Given the description of an element on the screen output the (x, y) to click on. 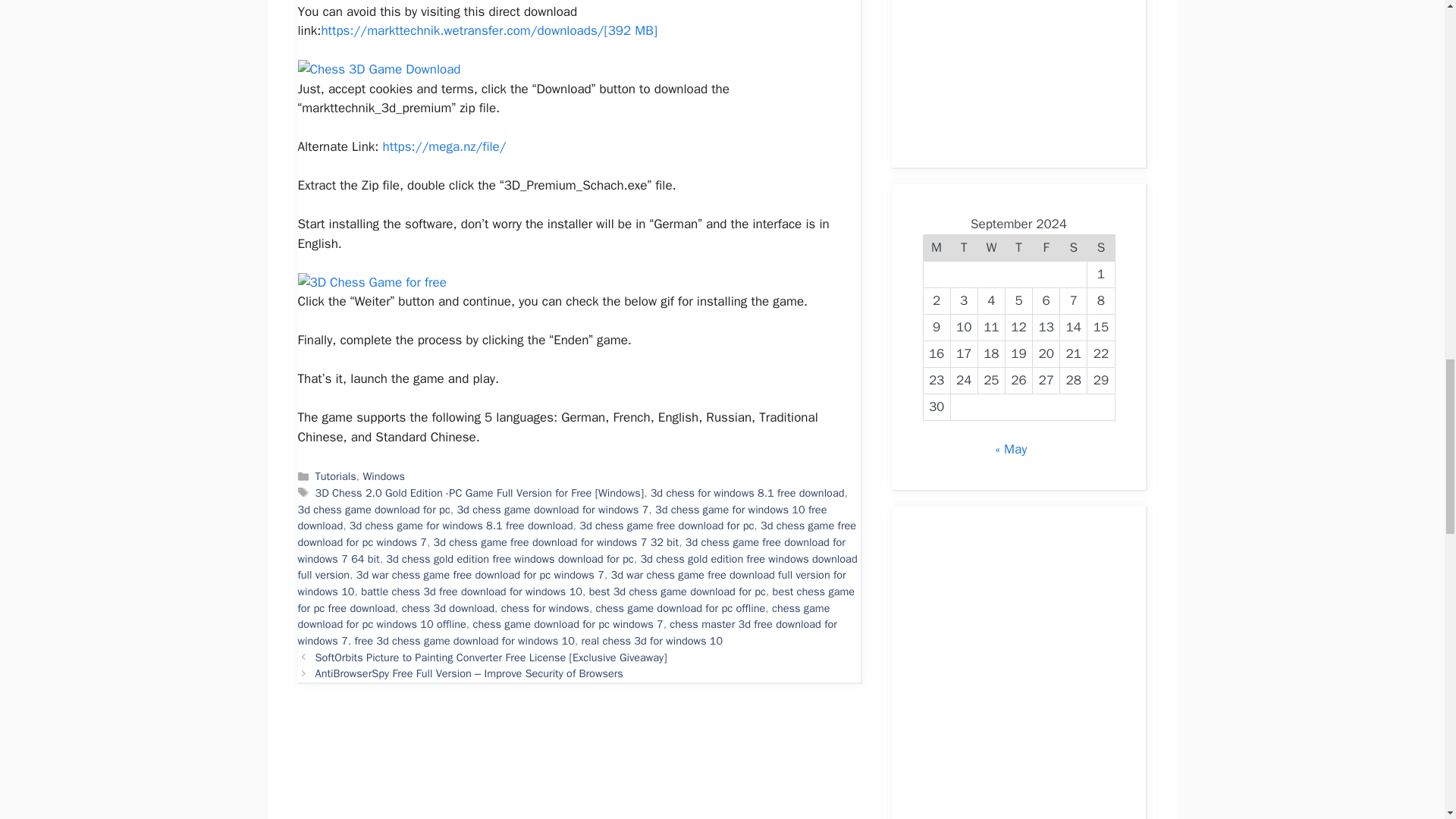
Friday (1045, 247)
Saturday (1073, 247)
Tuesday (963, 247)
Thursday (1018, 247)
Wednesday (990, 247)
Monday (936, 247)
Sunday (1101, 247)
